Given the description of an element on the screen output the (x, y) to click on. 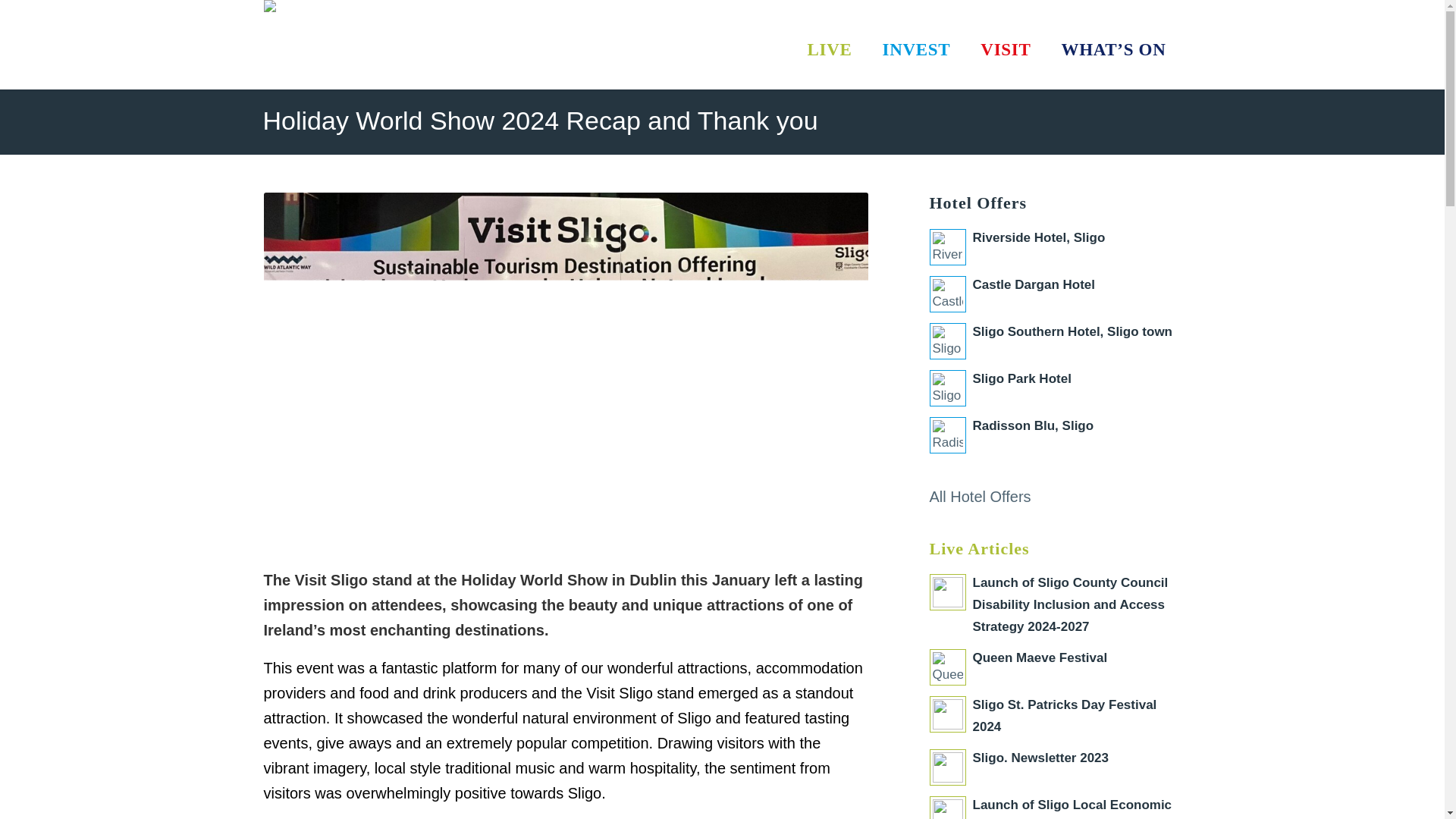
Holiday World Show 2024 Recap and Thank you (539, 120)
Permanent Link: Holiday World Show 2024 Recap and Thank you (539, 120)
INVEST (917, 49)
VISIT (1005, 49)
LIVE (829, 49)
